Given the description of an element on the screen output the (x, y) to click on. 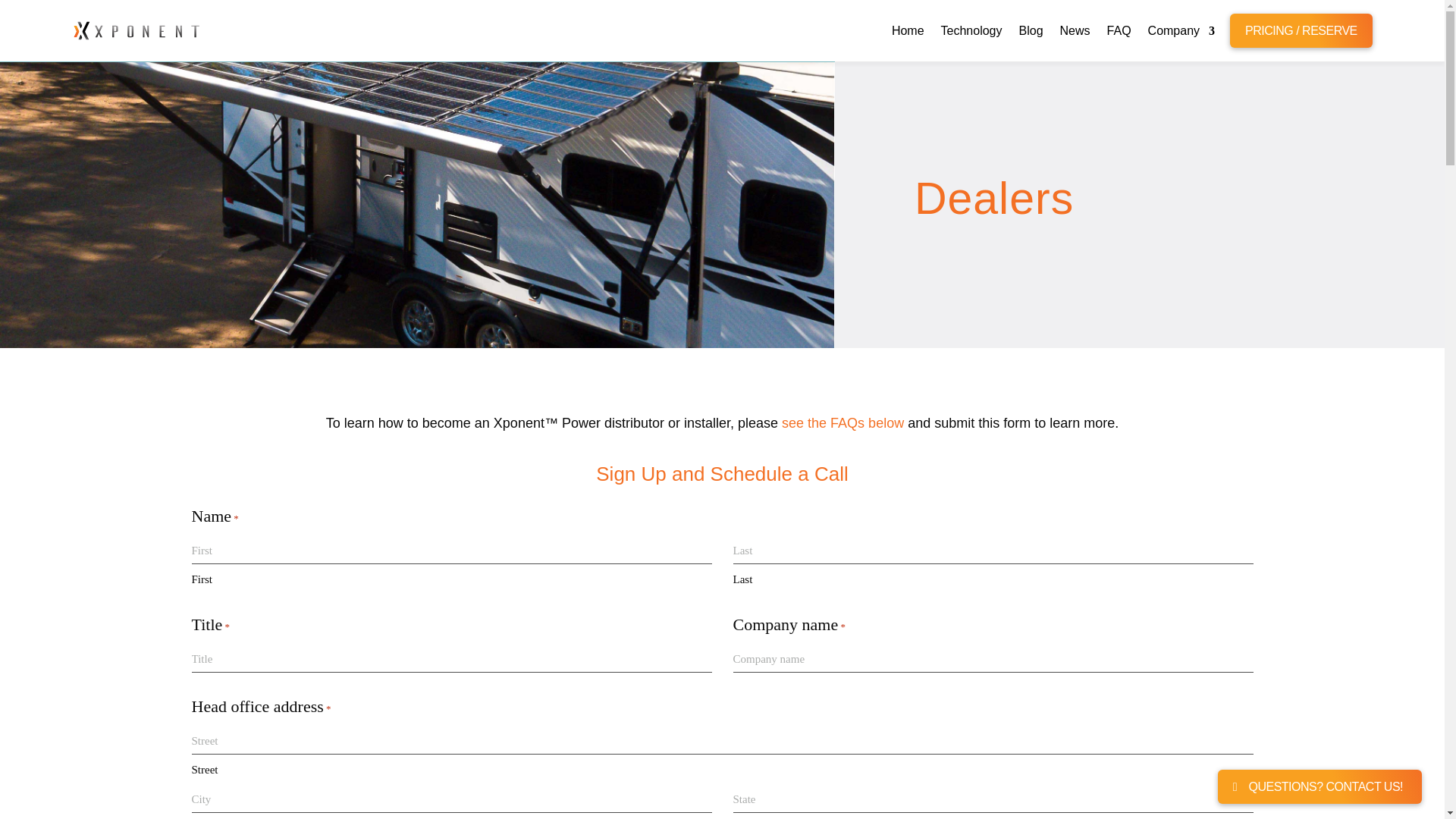
Company (1181, 33)
Home (907, 33)
Blog (1031, 33)
News (1074, 33)
FAQ (1118, 33)
see the FAQs below (842, 422)
xponent-black-color-svg (135, 30)
Technology (971, 33)
